Given the description of an element on the screen output the (x, y) to click on. 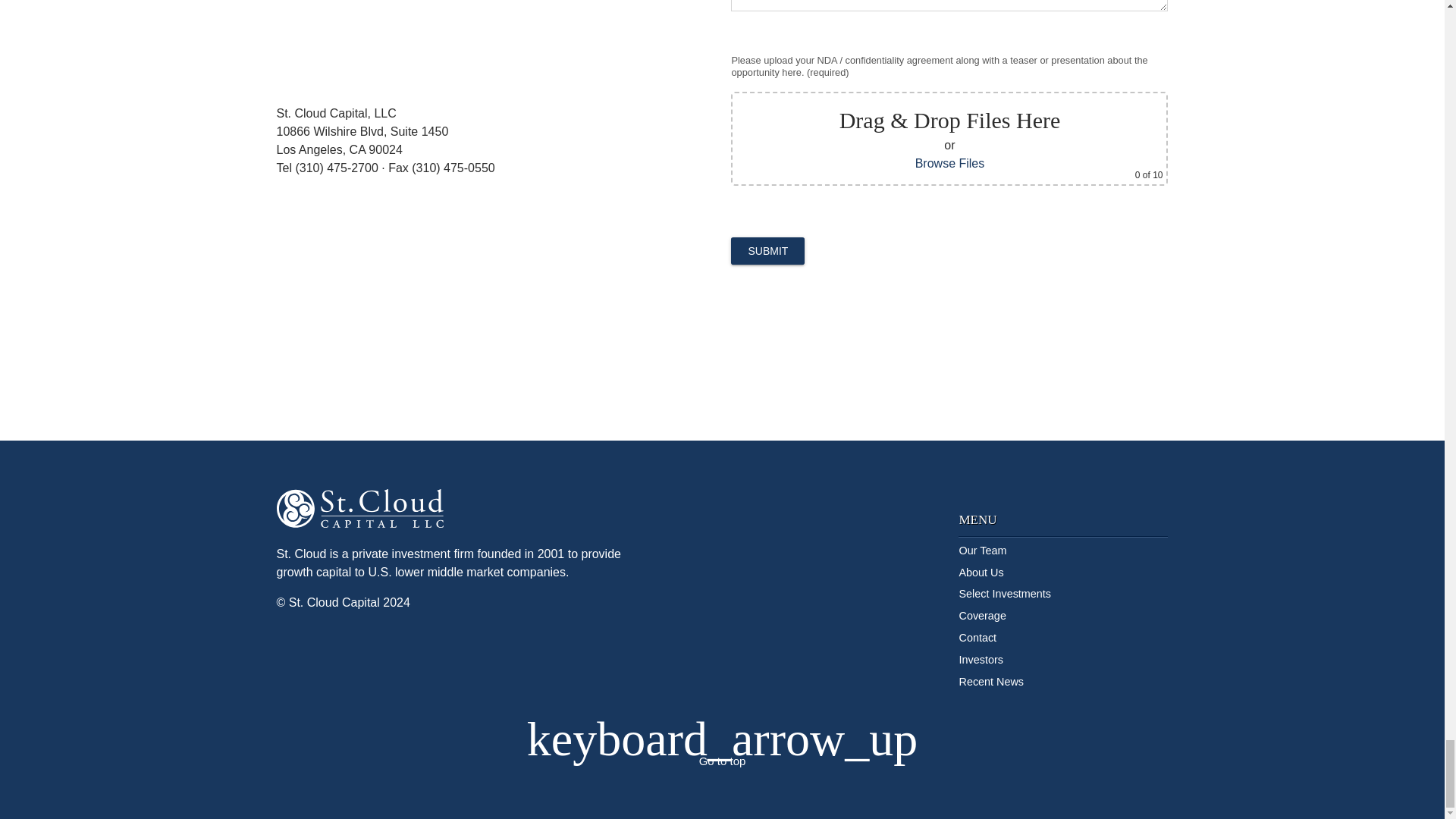
Submit (767, 250)
